Given the description of an element on the screen output the (x, y) to click on. 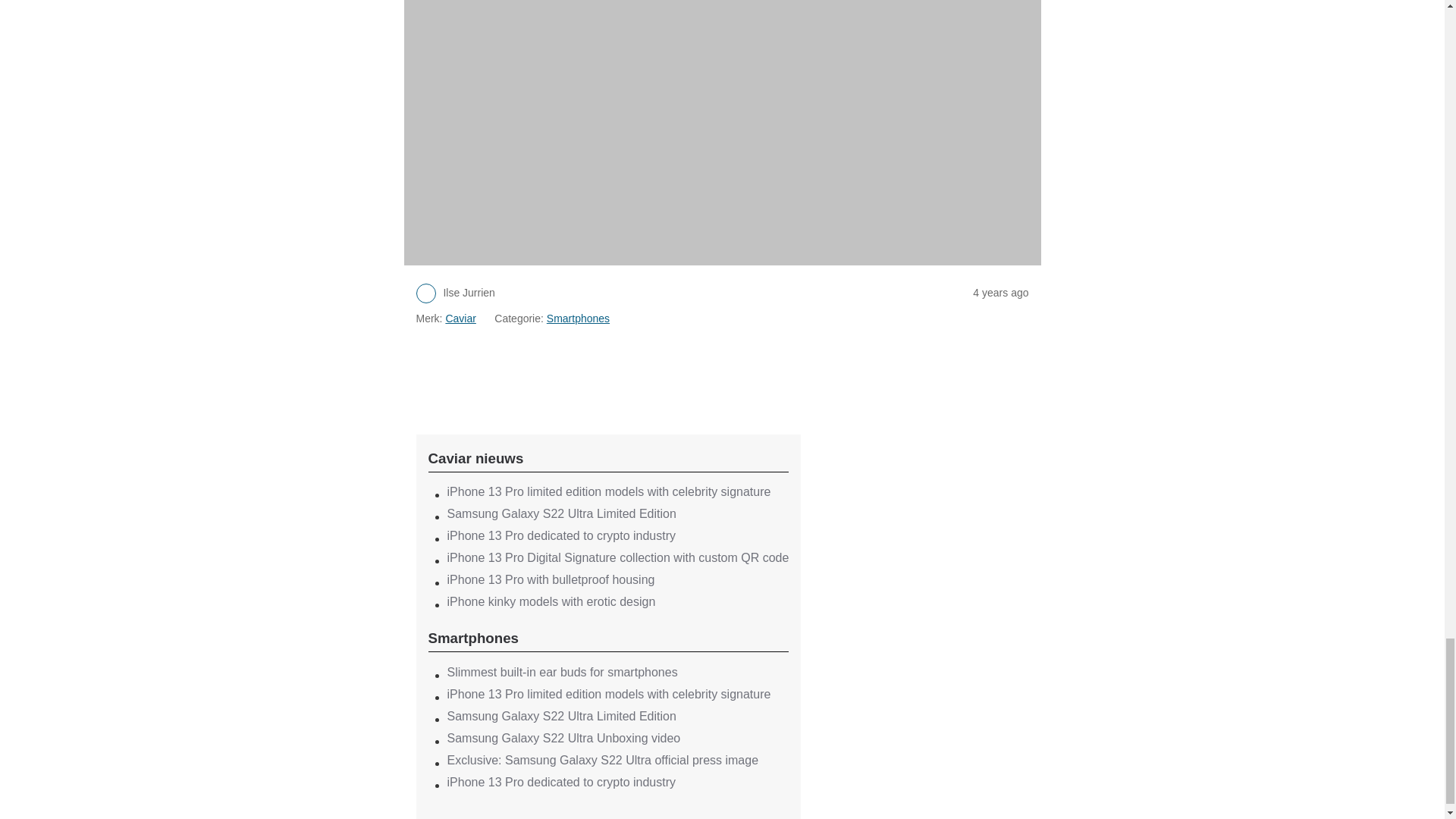
Caviar (460, 318)
iPhone kinky models with erotic design (551, 601)
Samsung Galaxy S22 Ultra Unboxing video (563, 738)
iPhone 13 Pro dedicated to crypto industry (561, 781)
Smartphones (578, 318)
Caviar (608, 459)
Samsung Galaxy S22 Ultra Limited Edition (561, 716)
iPhone 13 Pro with bulletproof housing (550, 579)
Slimmest built-in ear buds for smartphones (562, 671)
Samsung Galaxy S22 Ultra Limited Edition (561, 513)
iPhone 13 Pro dedicated to crypto industry (561, 535)
Exclusive: Samsung Galaxy S22 Ultra official press image (602, 759)
